Given the description of an element on the screen output the (x, y) to click on. 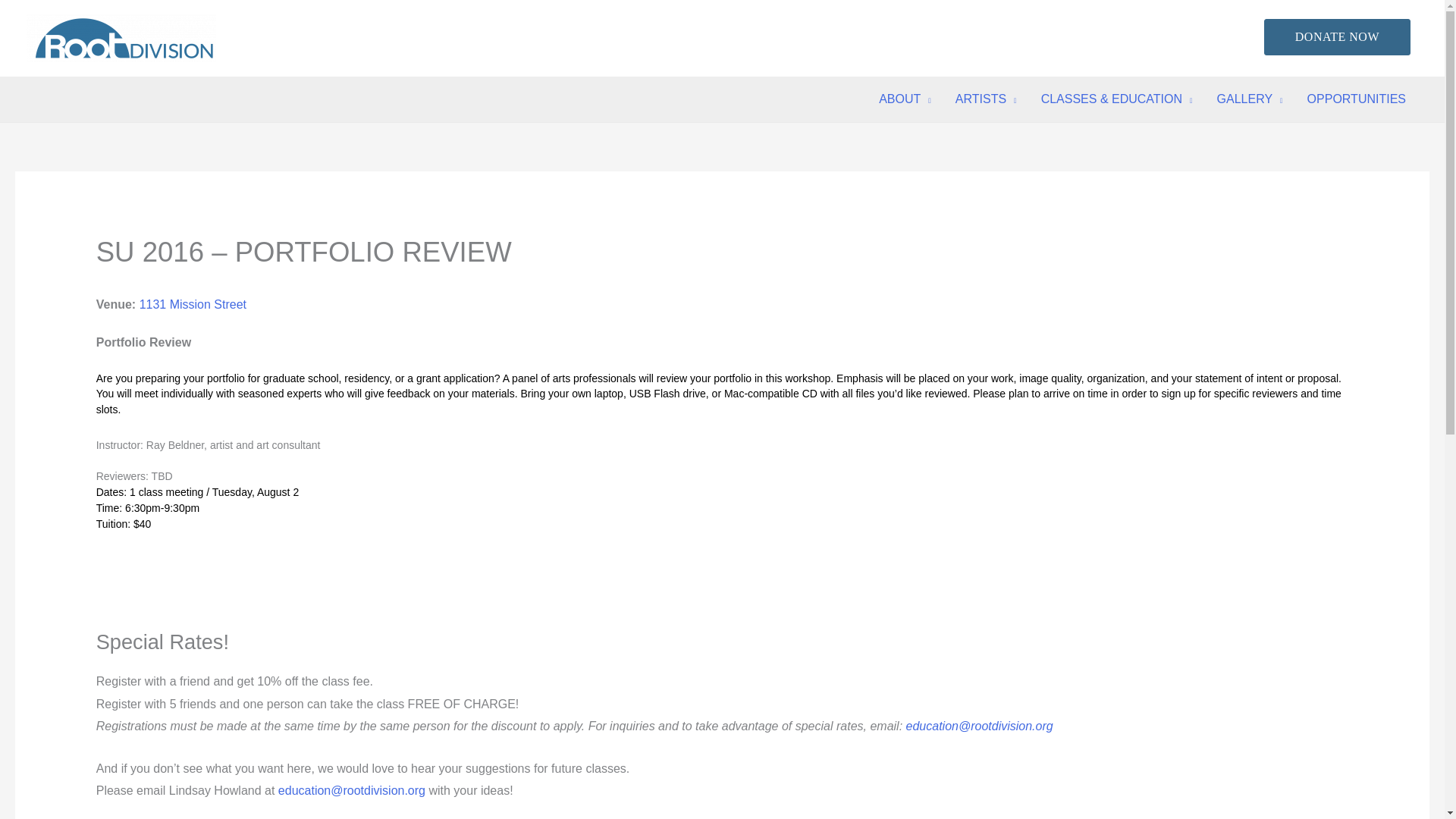
GALLERY (1250, 99)
DONATE NOW (1336, 36)
ARTISTS (986, 99)
OPPORTUNITIES (1356, 99)
ABOUT (904, 99)
